Given the description of an element on the screen output the (x, y) to click on. 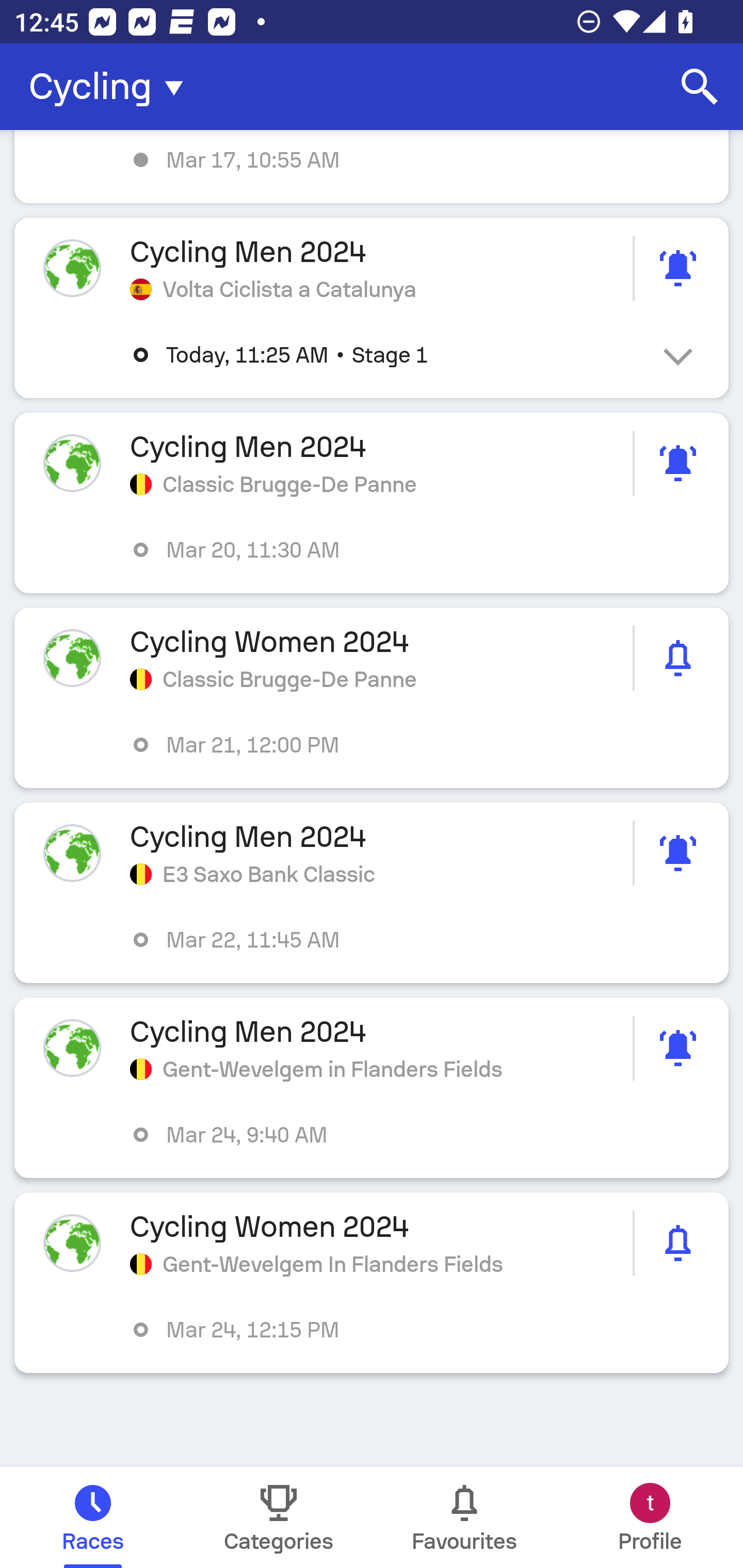
Cycling (111, 86)
Search (699, 86)
Mar 17, 10:55 AM (371, 166)
Today, 11:25 AM • Stage 1 (385, 355)
Categories (278, 1517)
Favourites (464, 1517)
Profile (650, 1517)
